Given the description of an element on the screen output the (x, y) to click on. 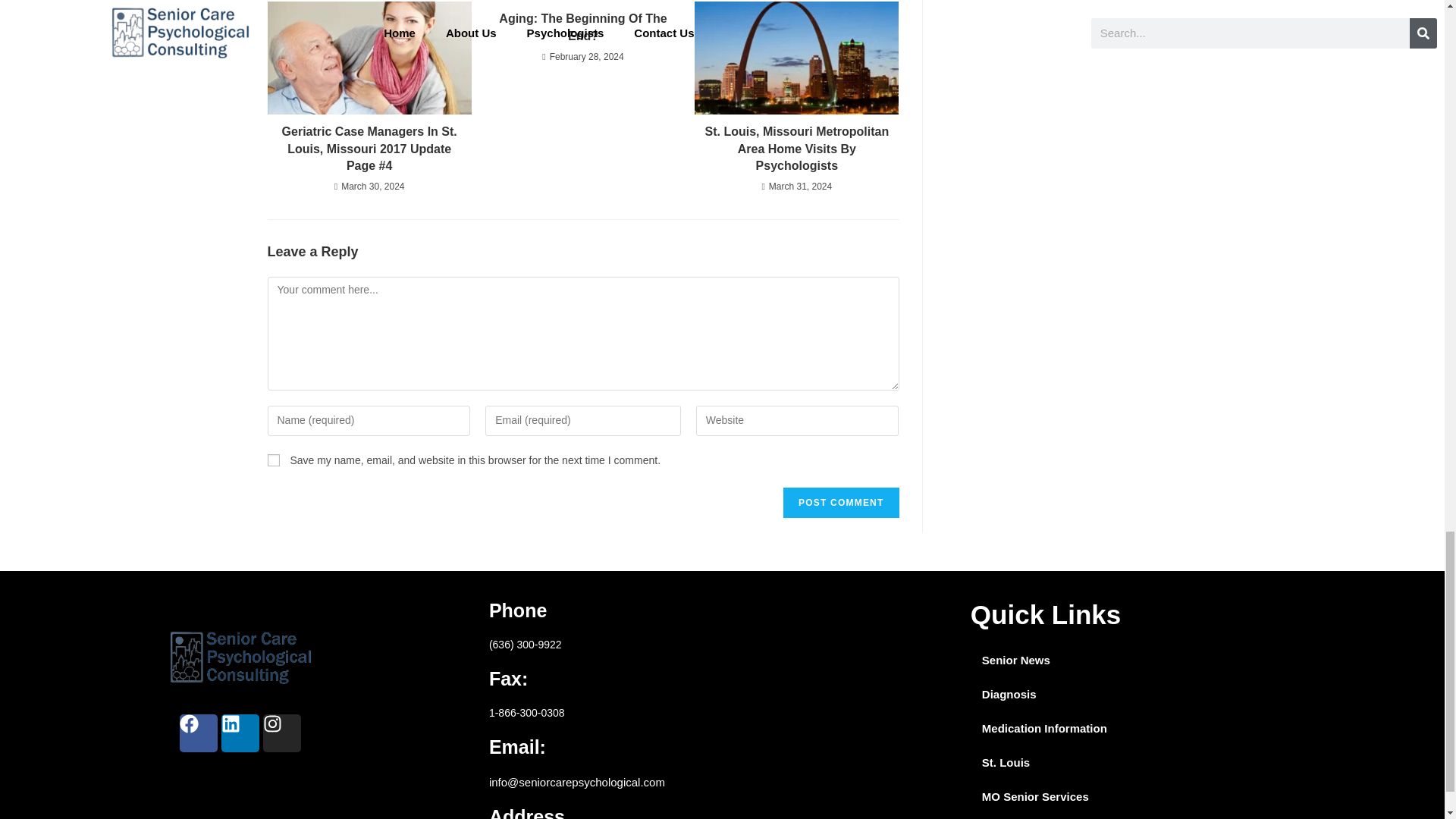
Post Comment (840, 502)
Aging: The Beginning Of The End? (582, 27)
yes (272, 460)
Post Comment (840, 502)
